Given the description of an element on the screen output the (x, y) to click on. 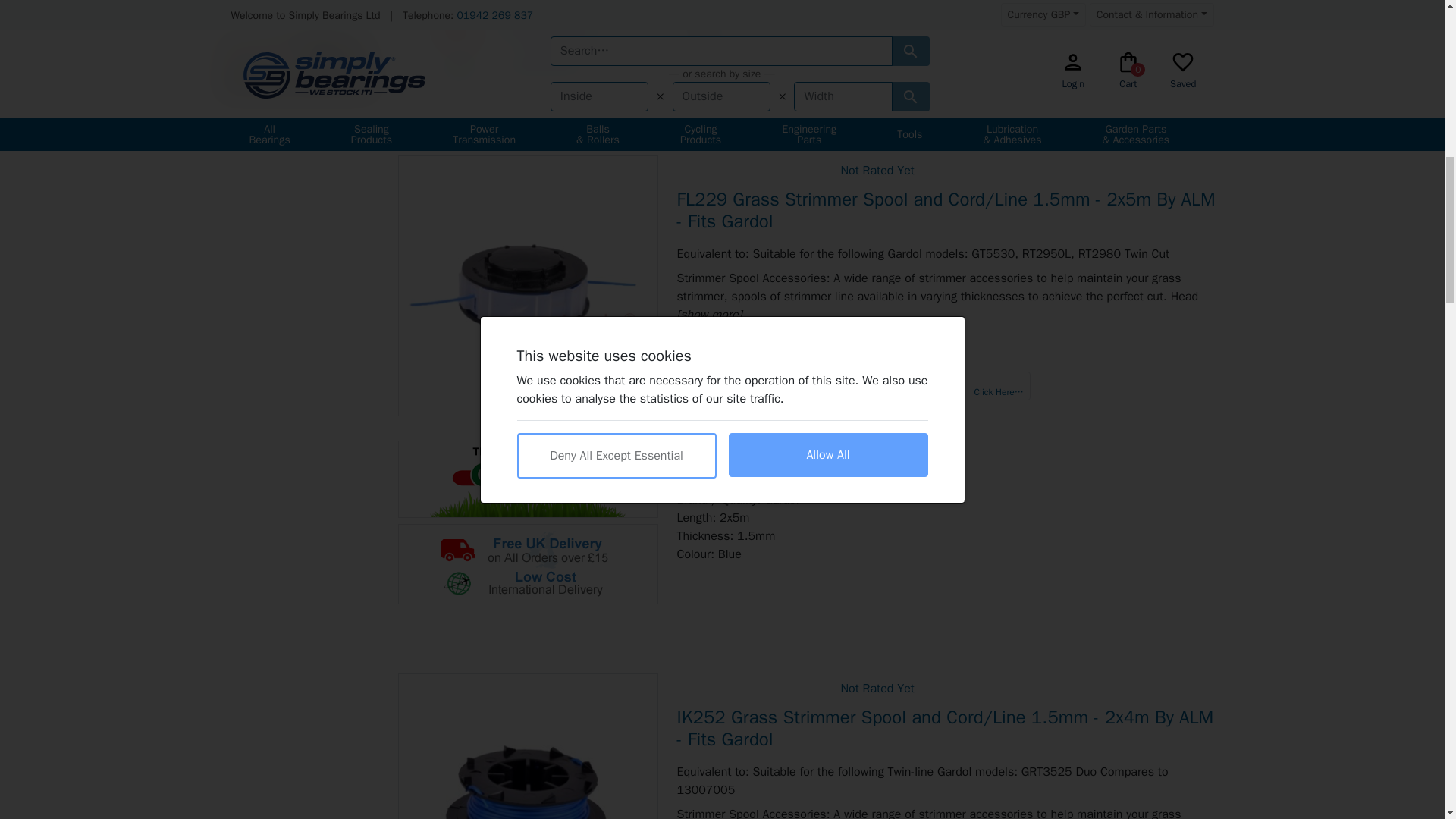
Click for more information (527, 478)
